Given the description of an element on the screen output the (x, y) to click on. 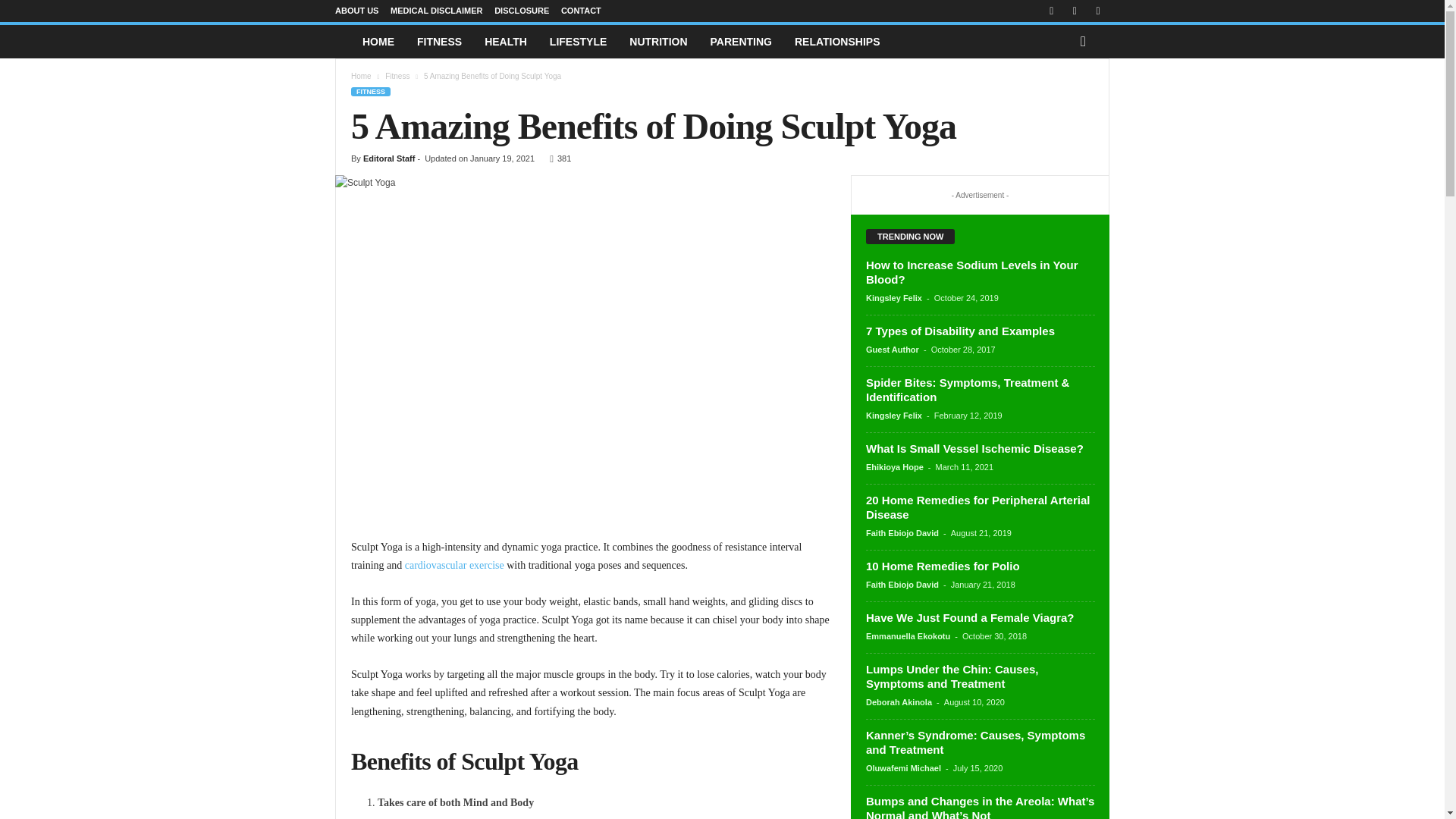
RELATIONSHIPS (837, 41)
Fitness (397, 76)
FITNESS (370, 91)
NUTRITION (657, 41)
CONTACT (580, 10)
Editoral Staff (388, 157)
cardiovascular exercise (453, 564)
LIFESTYLE (577, 41)
PARENTING (740, 41)
View all posts in Fitness (397, 76)
Home (360, 76)
FITNESS (439, 41)
ABOUT US (356, 10)
MEDICAL DISCLAIMER (435, 10)
HOME (378, 41)
